Given the description of an element on the screen output the (x, y) to click on. 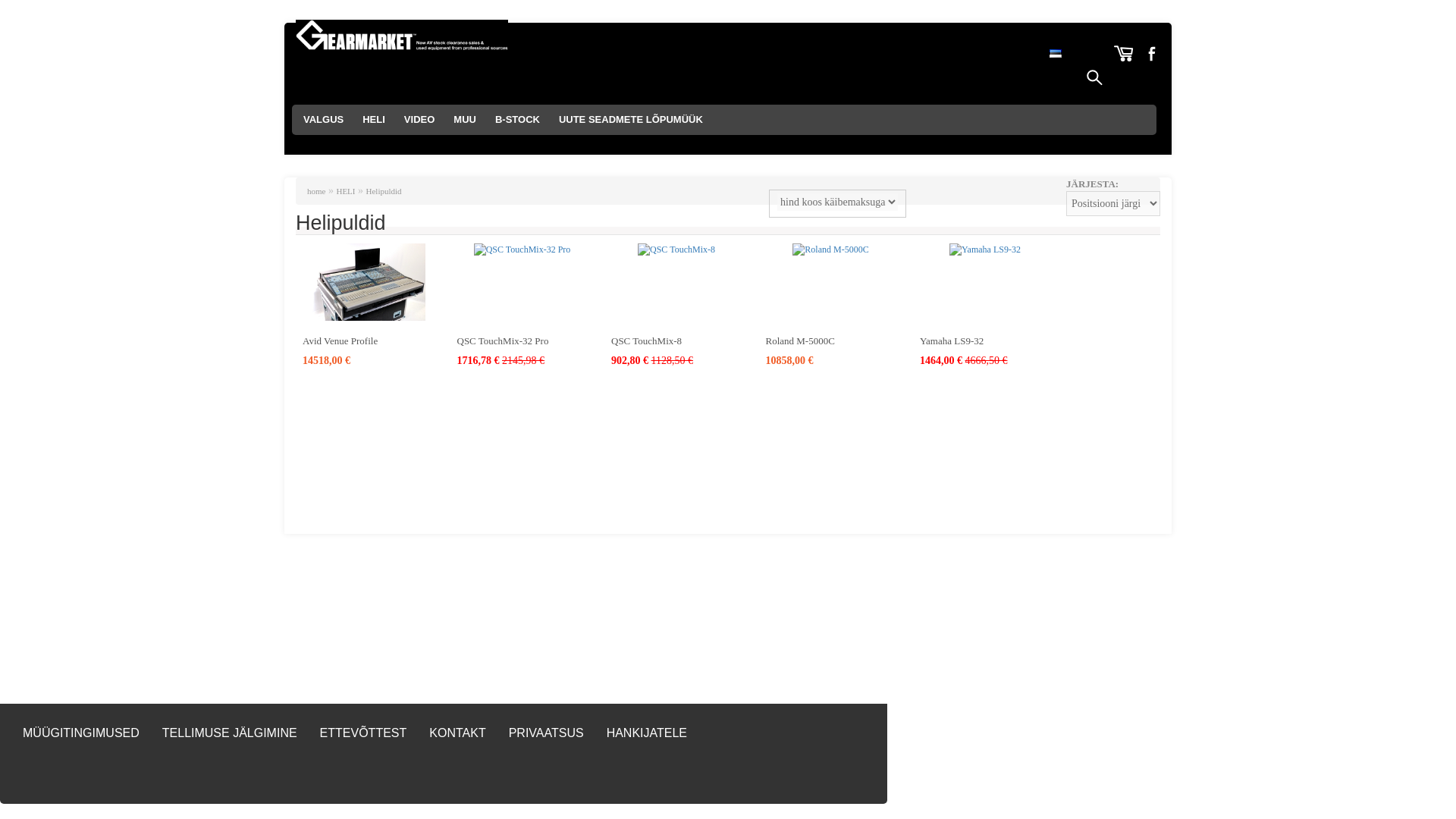
HELI (374, 119)
B-STOCK (517, 119)
VIDEO (419, 119)
MUU (464, 119)
VALGUS (322, 119)
